Given the description of an element on the screen output the (x, y) to click on. 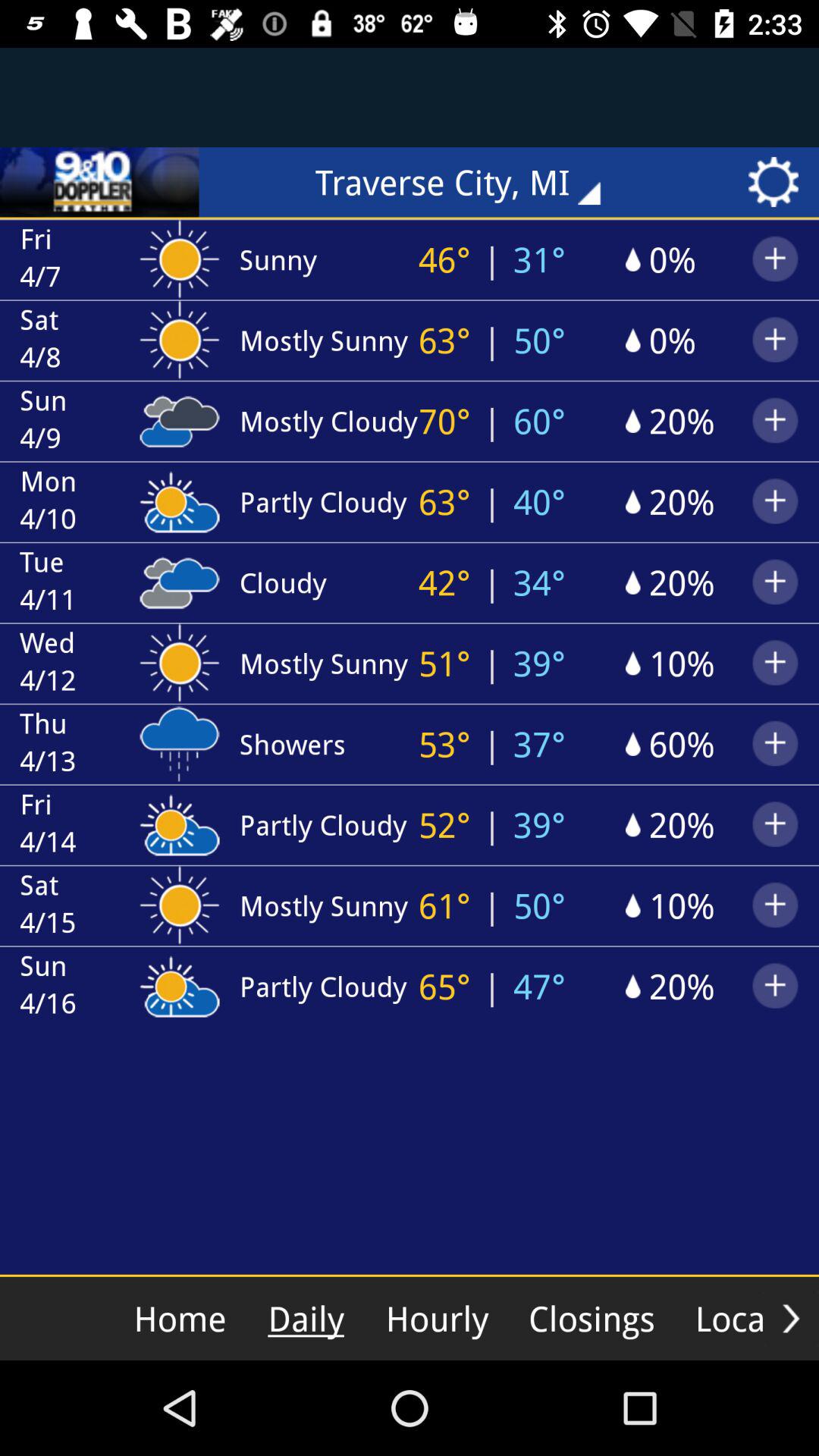
go to right most option in the second row (775, 256)
select sun icon which is after 48 on the page (180, 337)
click on hourly (436, 1317)
